Given the description of an element on the screen output the (x, y) to click on. 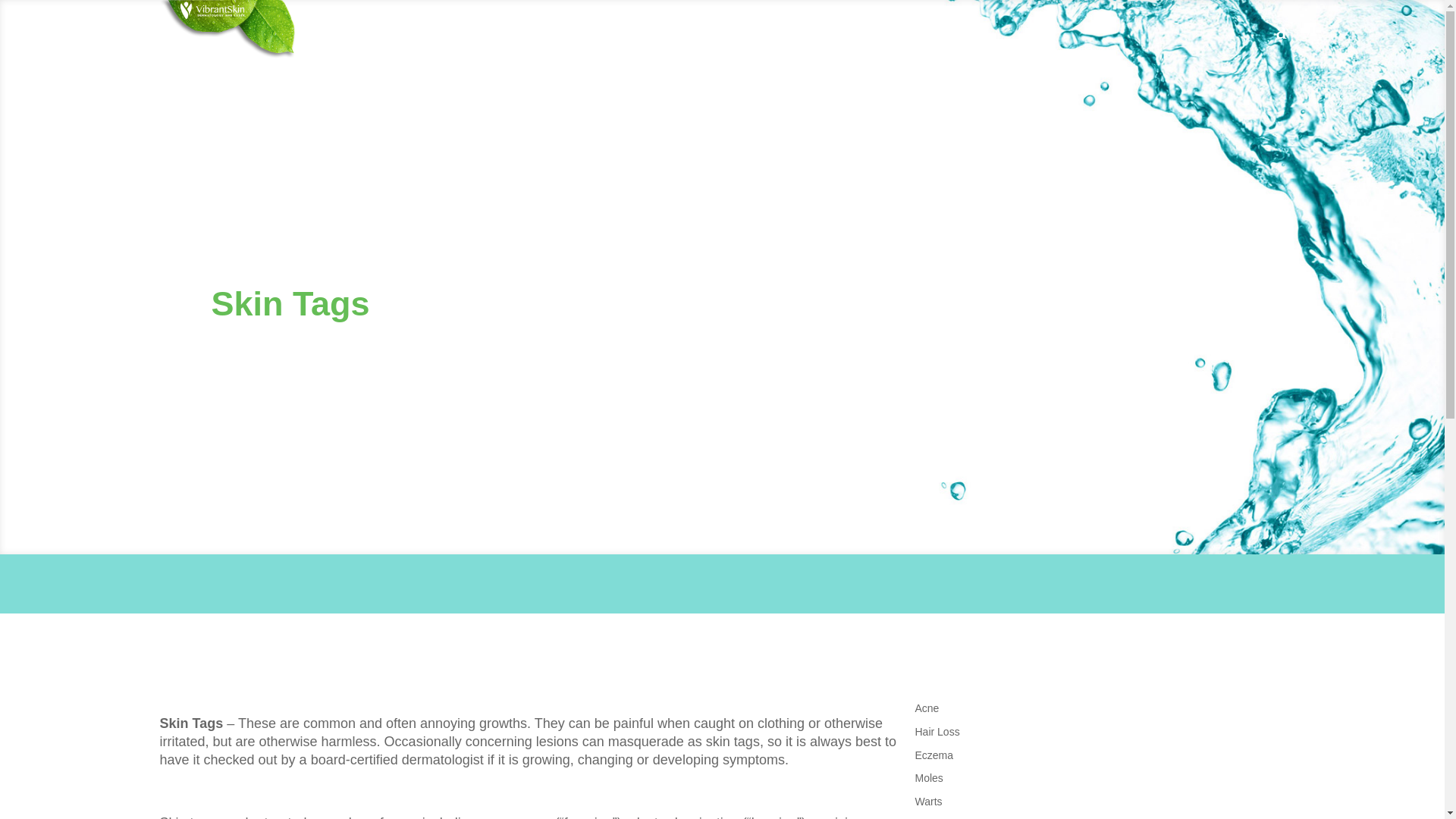
Hair Loss (936, 731)
Eczema (933, 755)
Warts (928, 801)
Moles (928, 777)
Acne (926, 707)
